Given the description of an element on the screen output the (x, y) to click on. 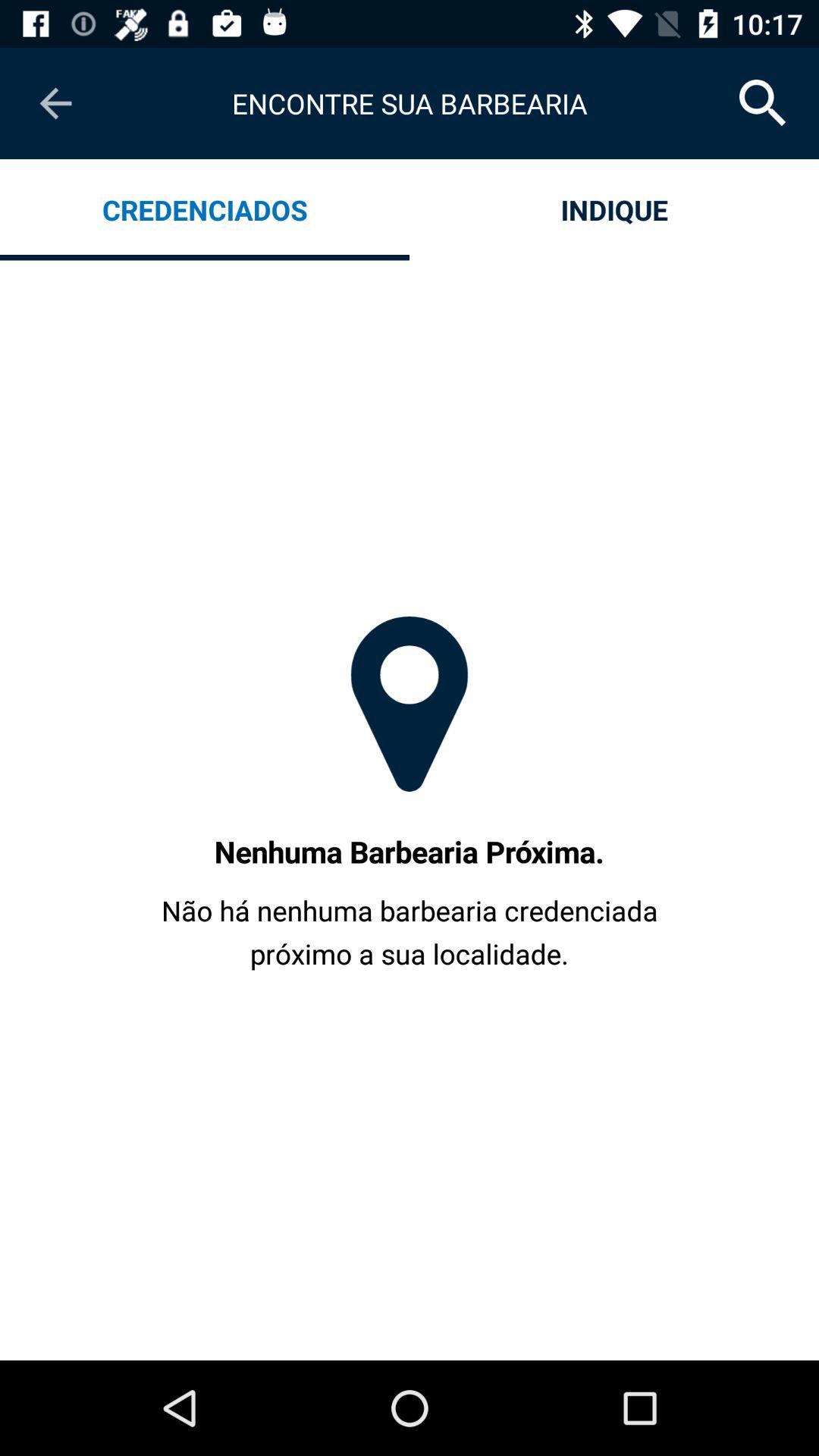
turn on item next to credenciados app (614, 209)
